Given the description of an element on the screen output the (x, y) to click on. 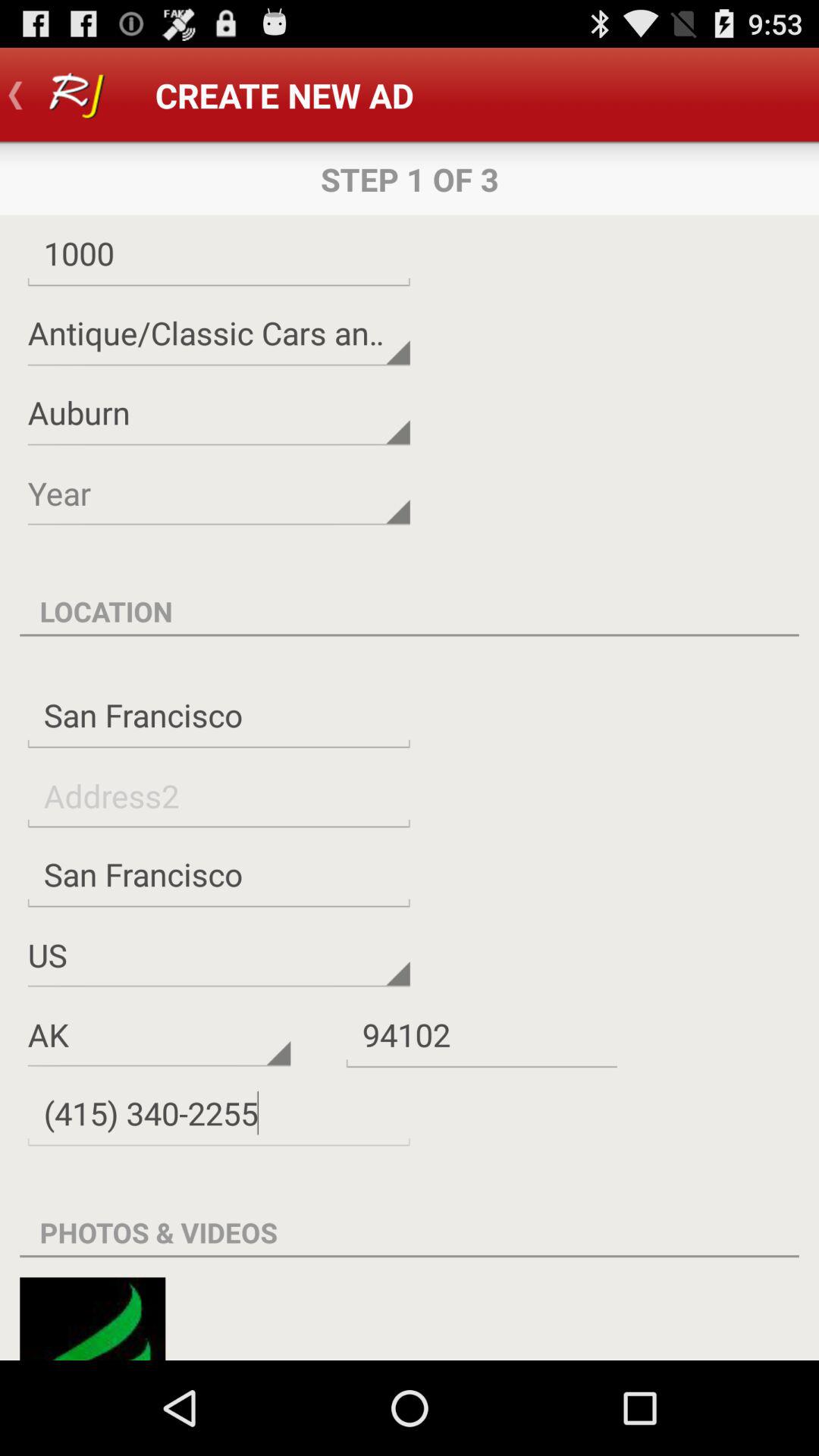
type address (218, 795)
